Given the description of an element on the screen output the (x, y) to click on. 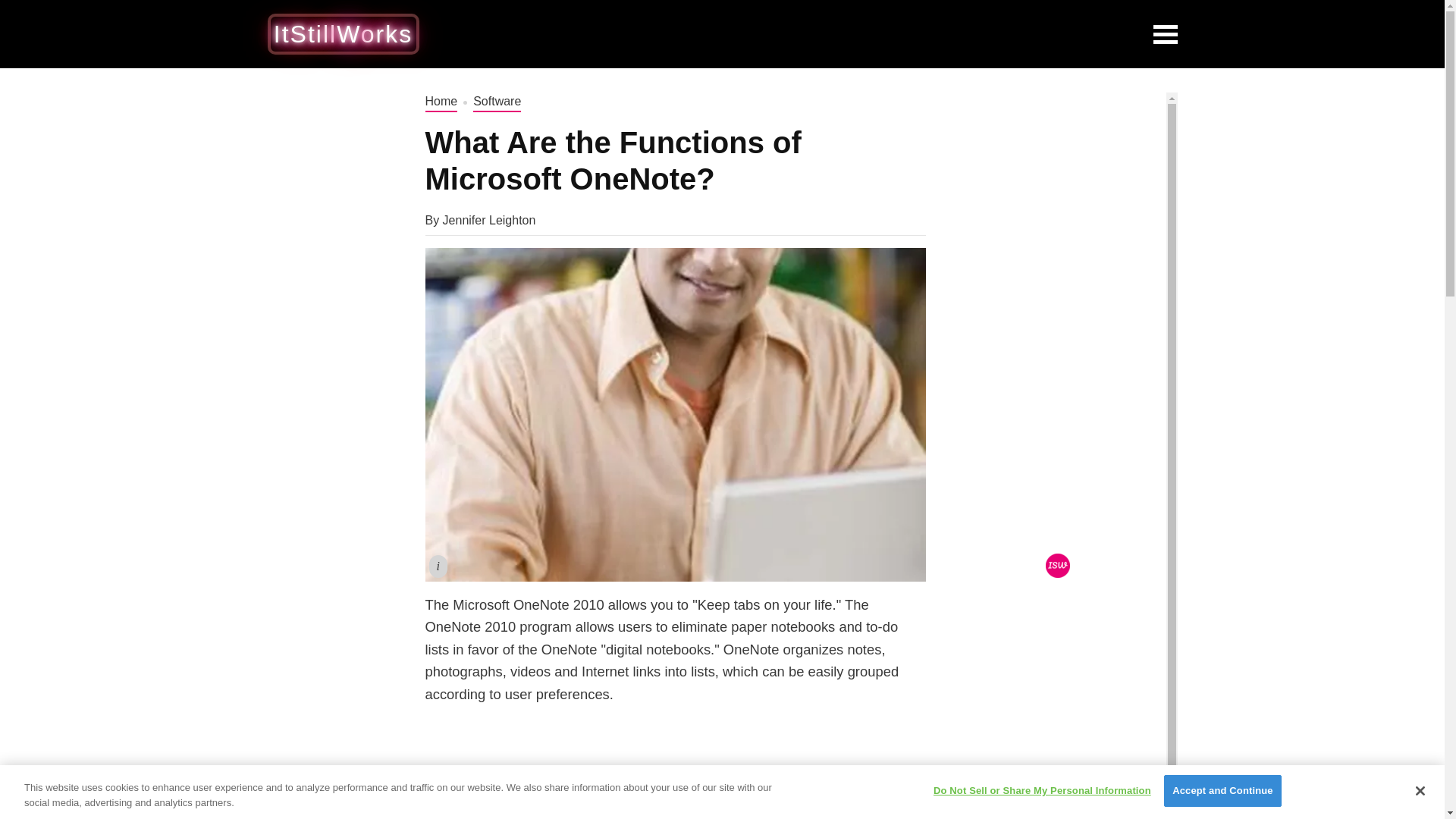
Do Not Sell or Share My Personal Information (1042, 790)
3rd party ad content (1062, 186)
ItStillWorks (342, 33)
Home (441, 102)
Advertisement (674, 772)
3rd party ad content (1062, 678)
3rd party ad content (785, 33)
Accept and Continue (1222, 790)
Software (497, 102)
